Given the description of an element on the screen output the (x, y) to click on. 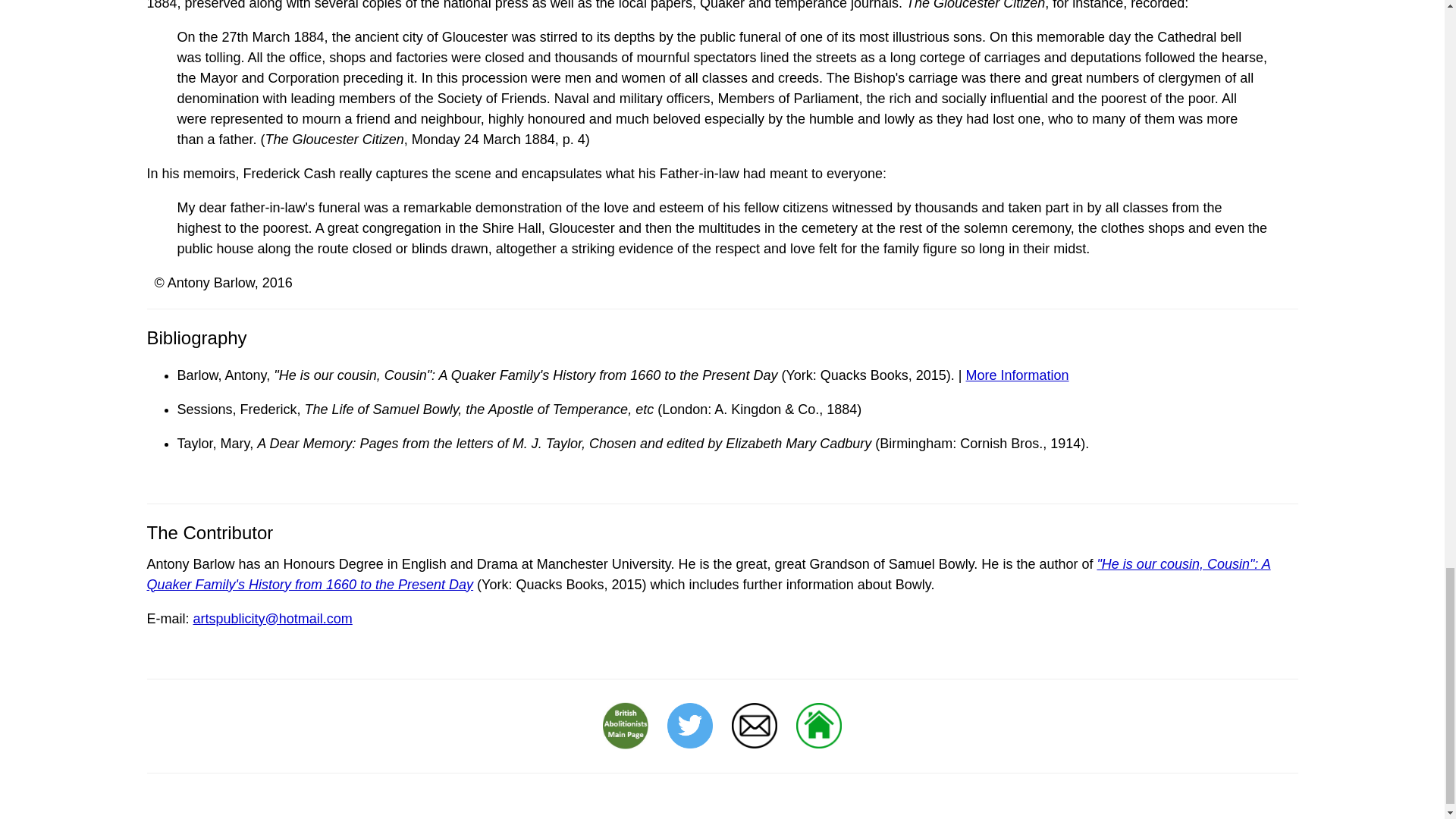
More Information (1017, 374)
